Given the description of an element on the screen output the (x, y) to click on. 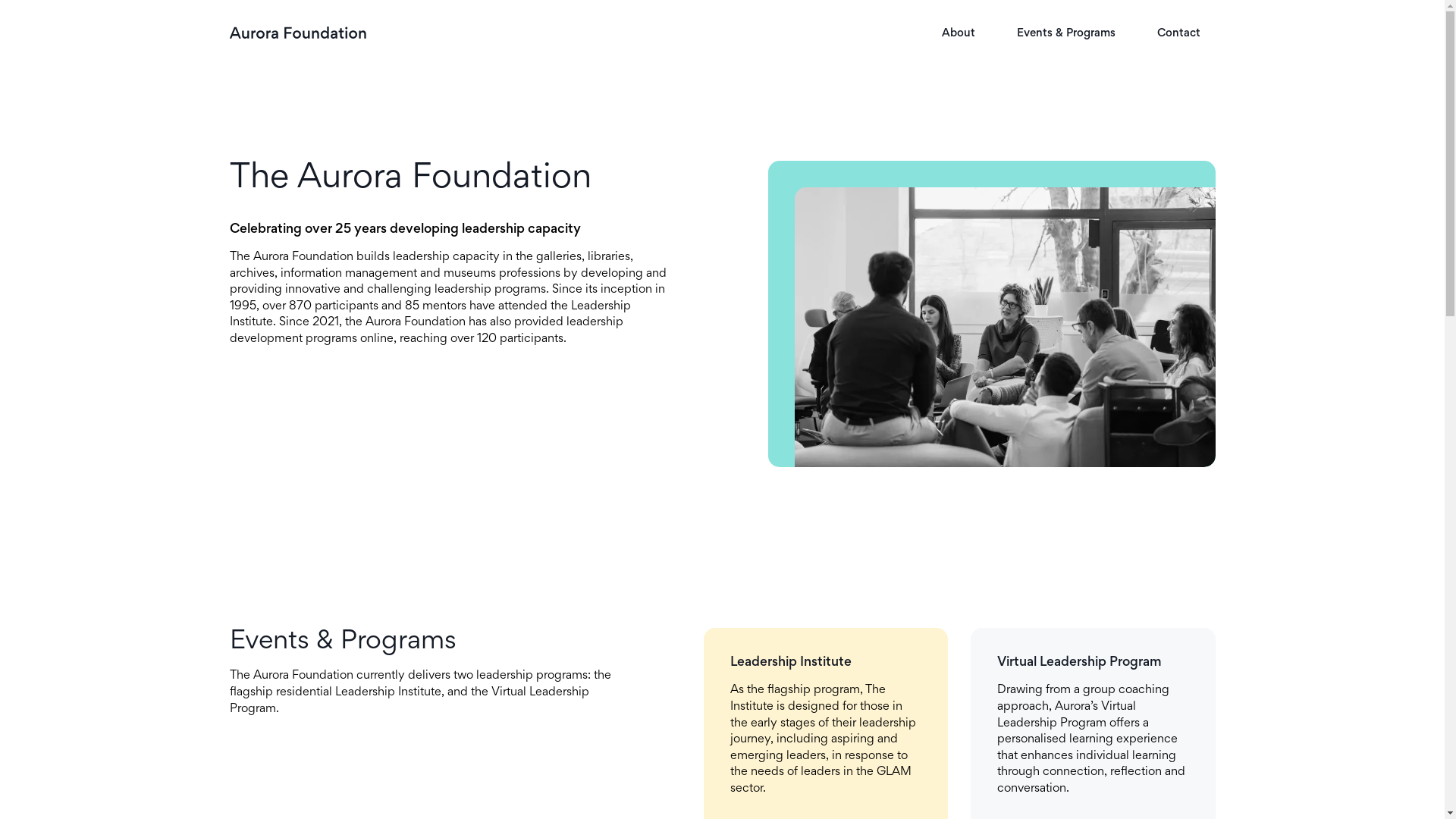
Events & Programs Element type: text (1065, 33)
About Element type: text (958, 33)
Contact Element type: text (1178, 33)
